Given the description of an element on the screen output the (x, y) to click on. 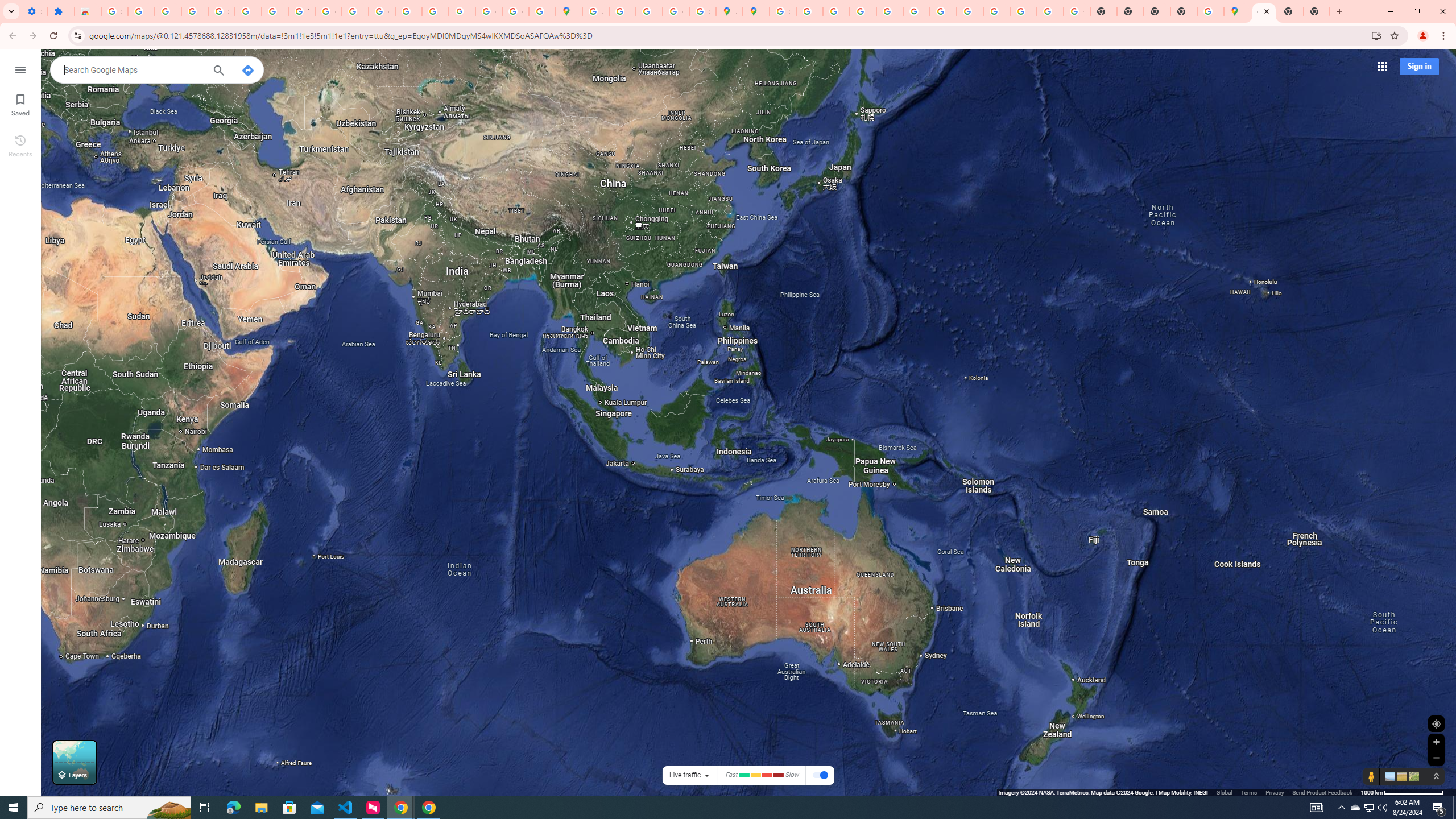
Create your Google Account (649, 11)
Recents (20, 145)
Google Maps (1236, 11)
Sign in - Google Accounts (114, 11)
Menu (20, 68)
Send Product Feedback (1322, 792)
Zoom out (1436, 757)
Live traffic (684, 774)
Sign in - Google Accounts (221, 11)
